Given the description of an element on the screen output the (x, y) to click on. 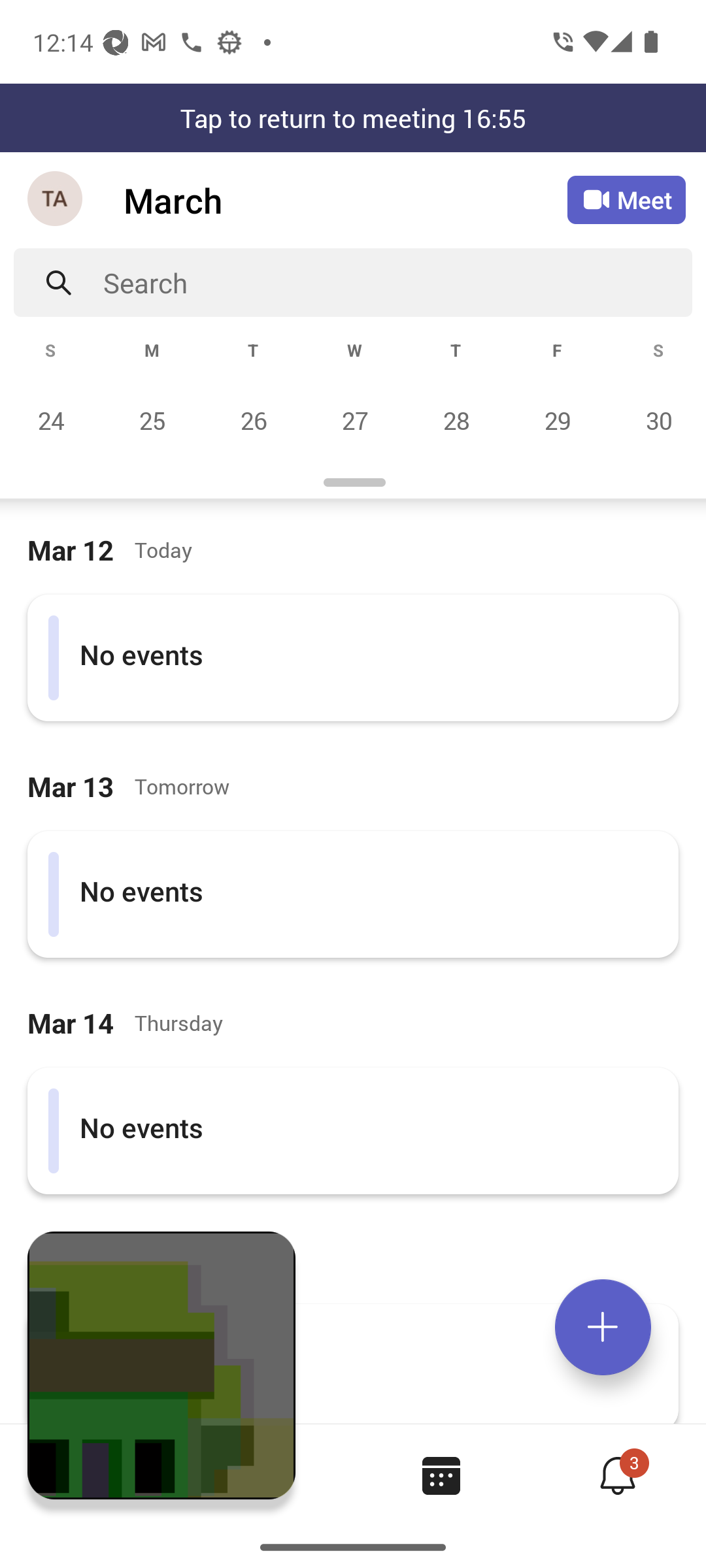
Tap to return to meeting 16:55 (353, 117)
Navigation (56, 199)
Meet Meet now or join with an ID (626, 199)
March March Calendar Agenda View (345, 199)
Search (397, 281)
Sunday, March 24 24 (50, 420)
Monday, March 25 25 (151, 420)
Tuesday, March 26 26 (253, 420)
Wednesday, March 27 27 (354, 420)
Thursday, March 28 28 (455, 420)
Friday, March 29 29 (556, 420)
Saturday, March 30 30 (656, 420)
Expand meetings menu (602, 1327)
Calendar tab, 3 of 4 (441, 1475)
Activity tab,4 of 4, not selected, 3 new 3 (617, 1475)
